Given the description of an element on the screen output the (x, y) to click on. 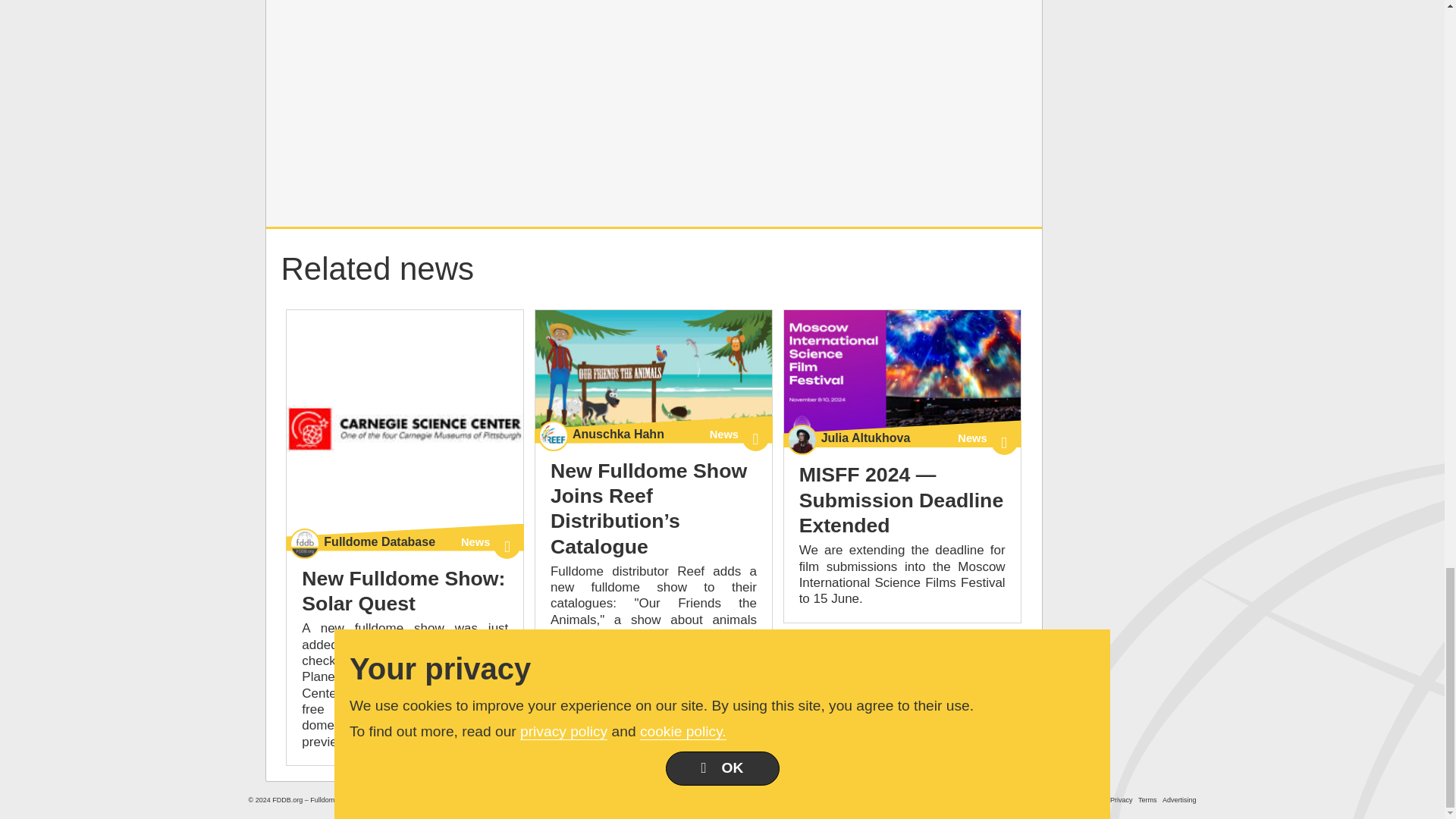
New Fulldome Show: Solar Quest (404, 428)
New Fulldome Show: Solar Quest (403, 591)
